Given the description of an element on the screen output the (x, y) to click on. 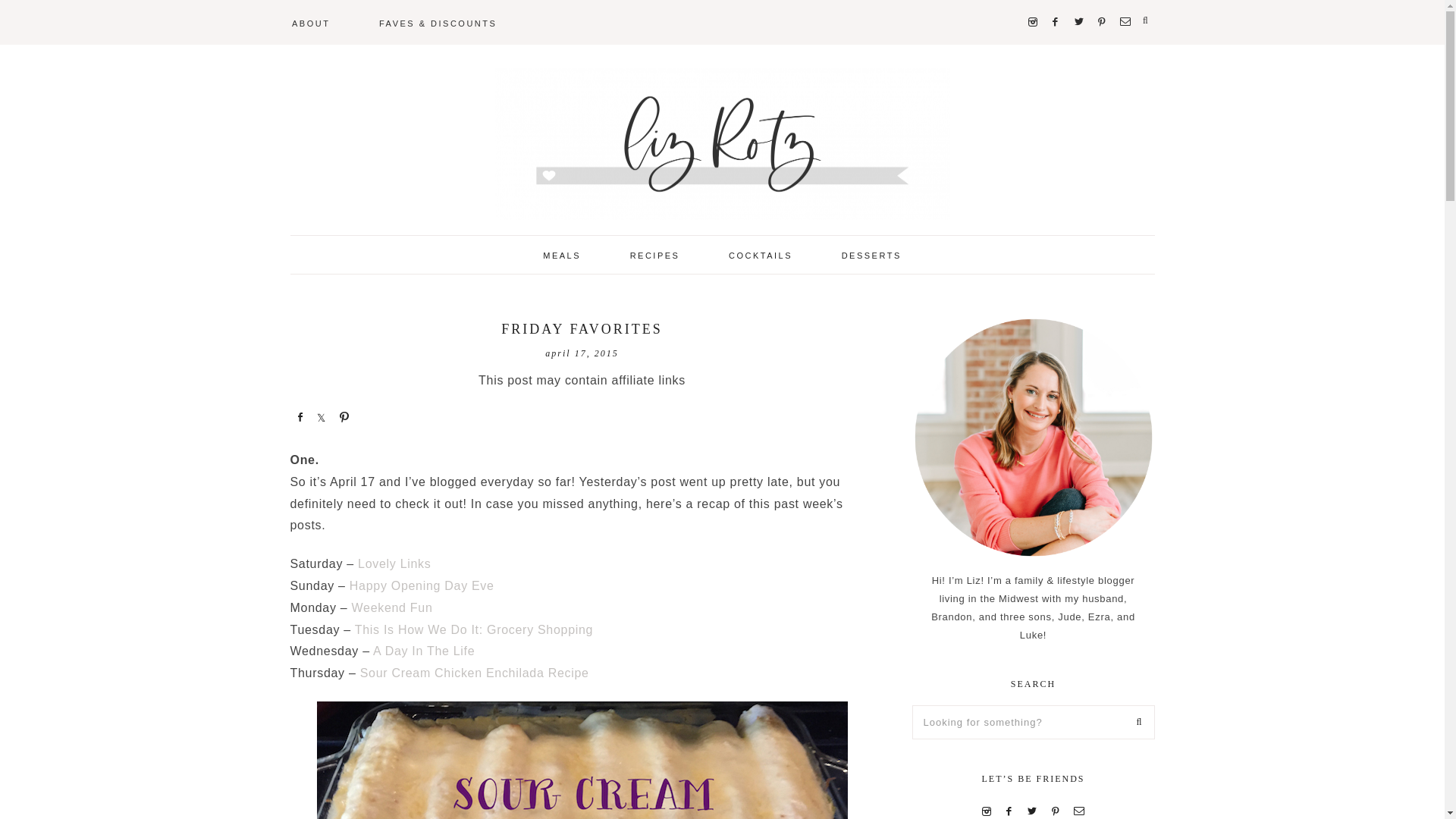
This Is How We Do It: Grocery Shopping Link up (473, 629)
Lovely Links (394, 563)
Pin (342, 416)
COCKTAILS (760, 253)
Share (321, 416)
RECIPES (655, 253)
Twitter (1078, 1)
MEALS (561, 253)
A Day In The Life (423, 650)
Weekend Fun (392, 607)
Pinterest (1102, 1)
Facebook (1055, 1)
Instagram (1032, 1)
Happy Opening Day Eve (422, 585)
Email Me (1125, 1)
